Given the description of an element on the screen output the (x, y) to click on. 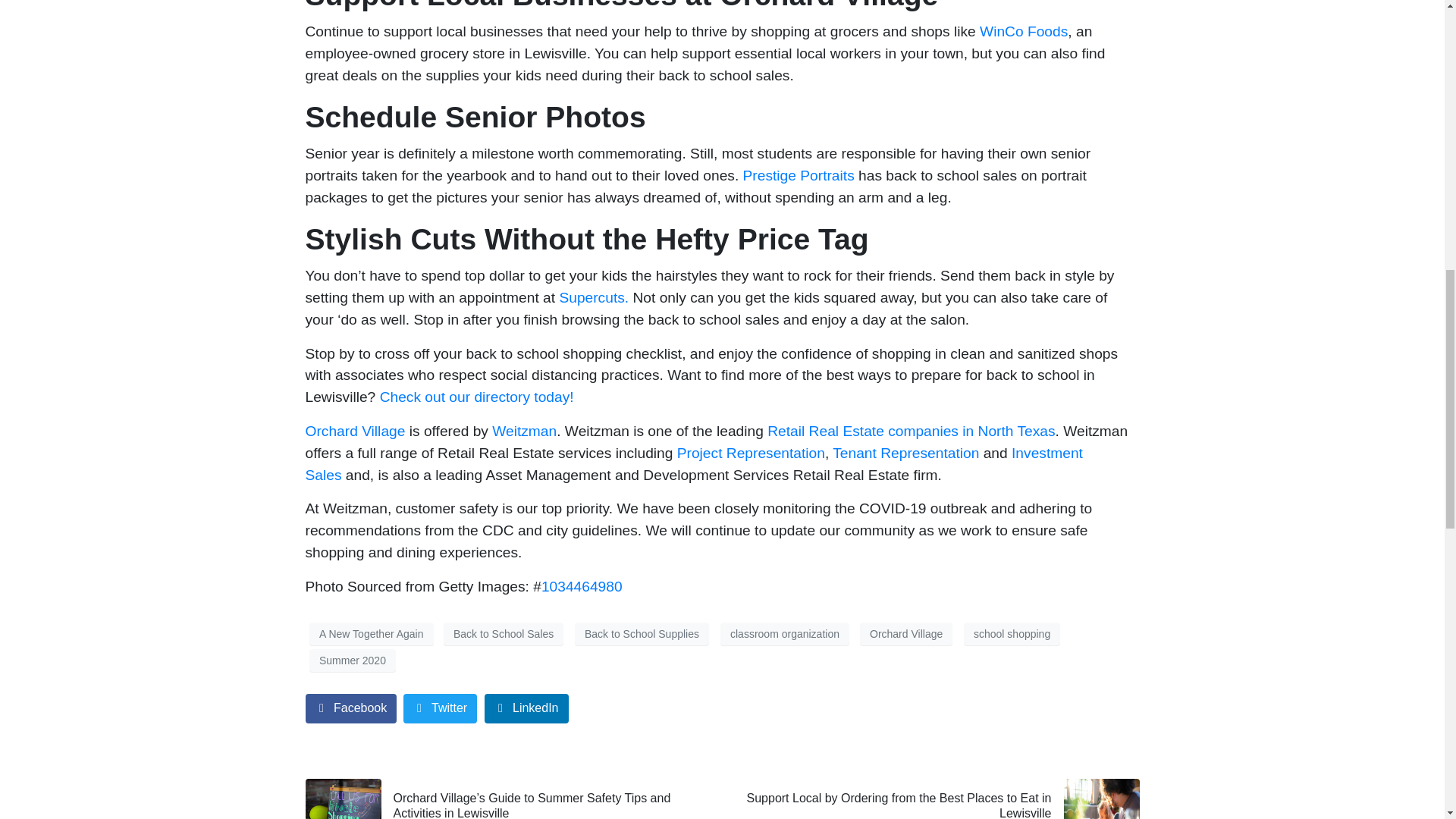
1034464980 (582, 586)
Prestige Portraits (798, 175)
school shopping (1011, 633)
WinCo Foods (1023, 31)
Retail Real Estate companies in North Texas (910, 430)
Twitter (440, 708)
classroom organization (784, 633)
Back to School Sales (503, 633)
Back to School Supplies (642, 633)
A New Together Again (370, 633)
